Given the description of an element on the screen output the (x, y) to click on. 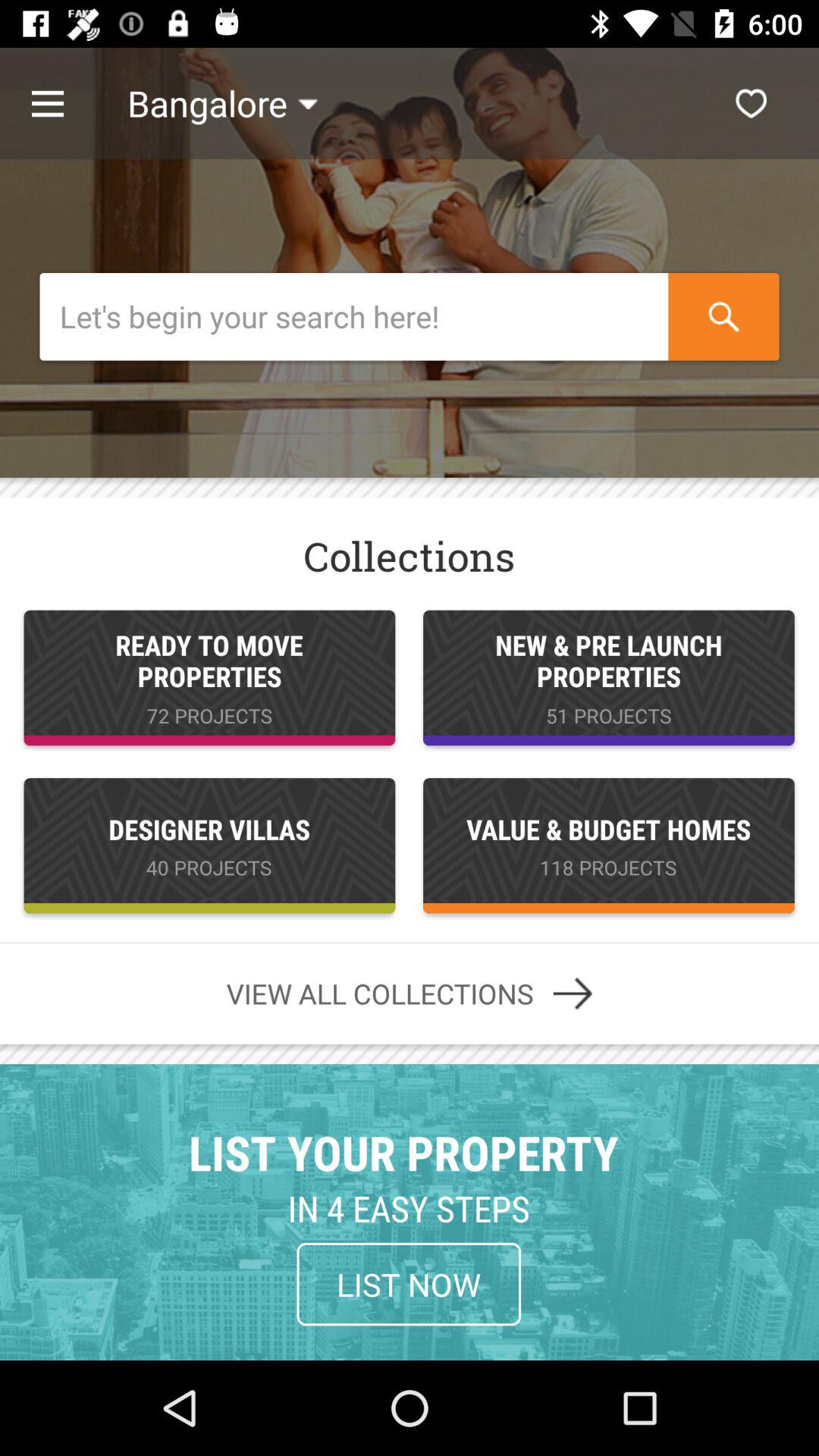
open menu (63, 103)
